Given the description of an element on the screen output the (x, y) to click on. 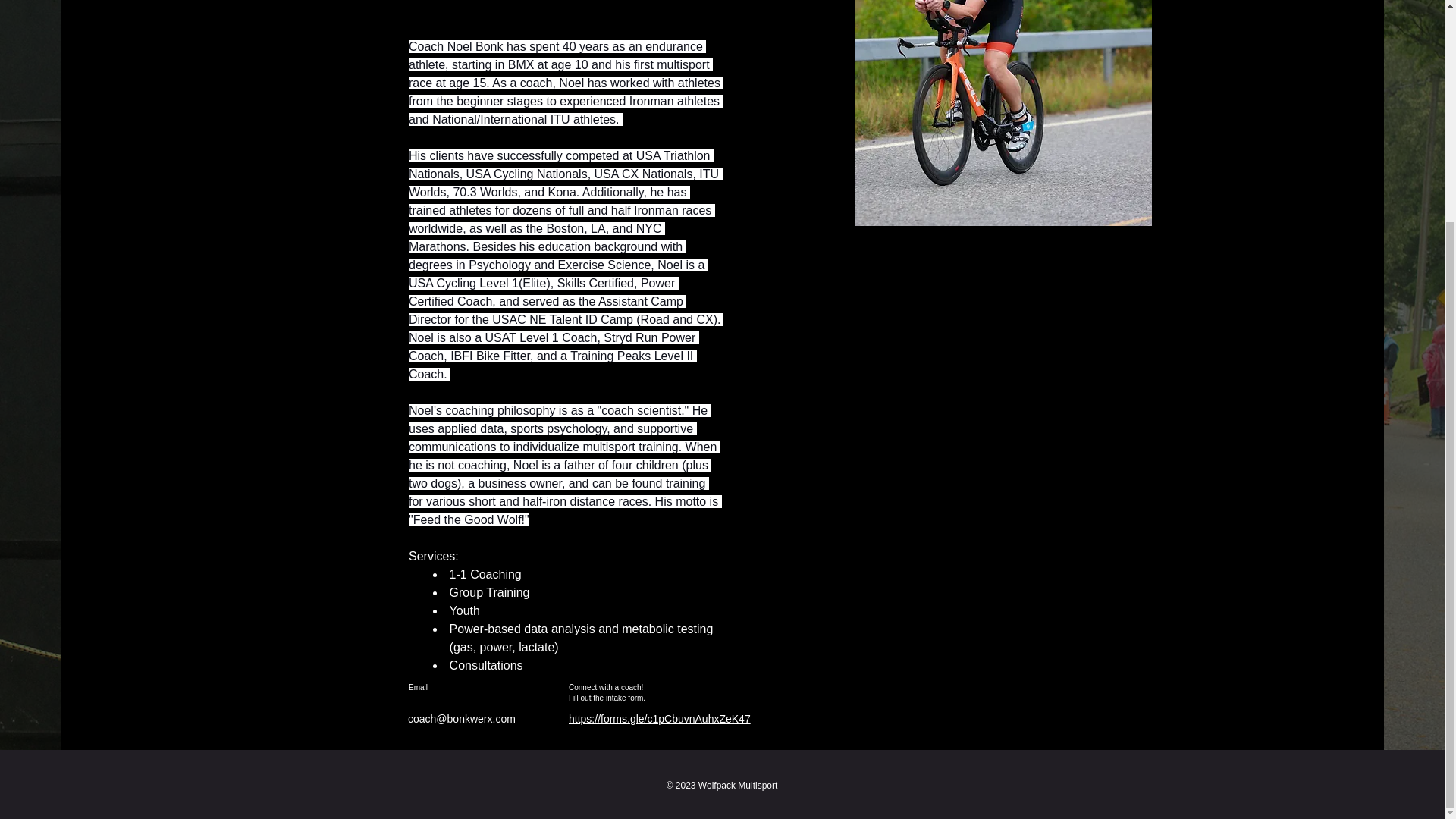
Pete-1309.jpeg (1002, 113)
